Given the description of an element on the screen output the (x, y) to click on. 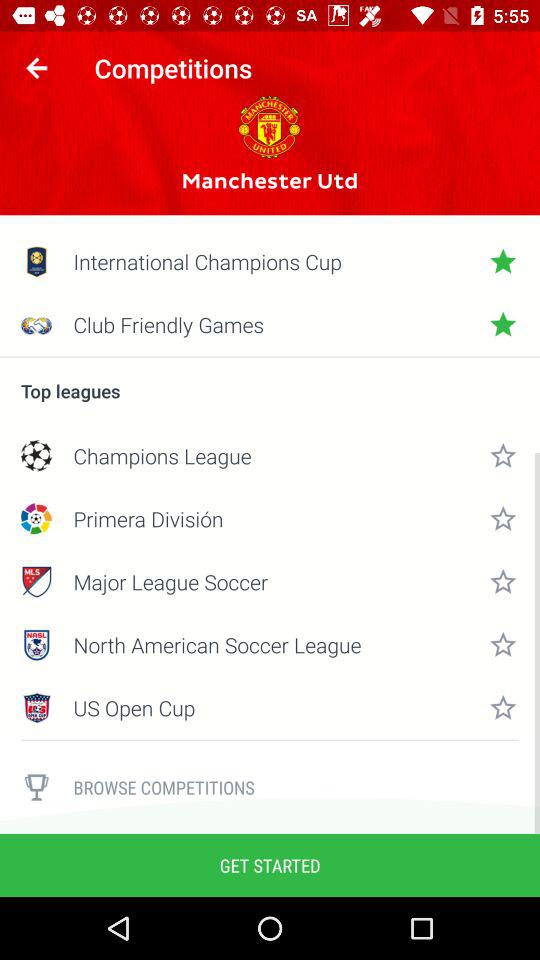
flip until us open cup item (269, 707)
